Given the description of an element on the screen output the (x, y) to click on. 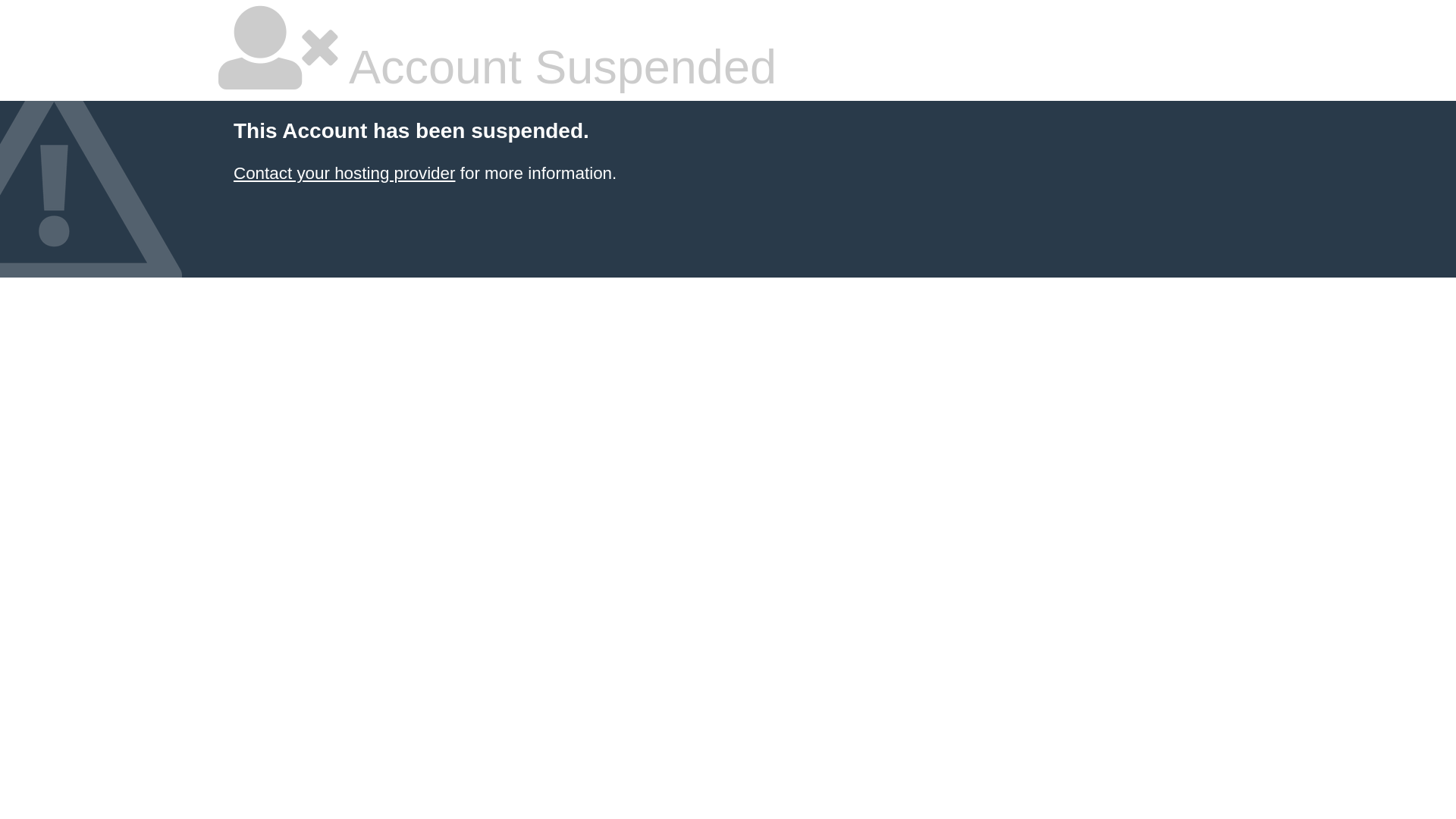
Contact your hosting provider Element type: text (344, 172)
